Given the description of an element on the screen output the (x, y) to click on. 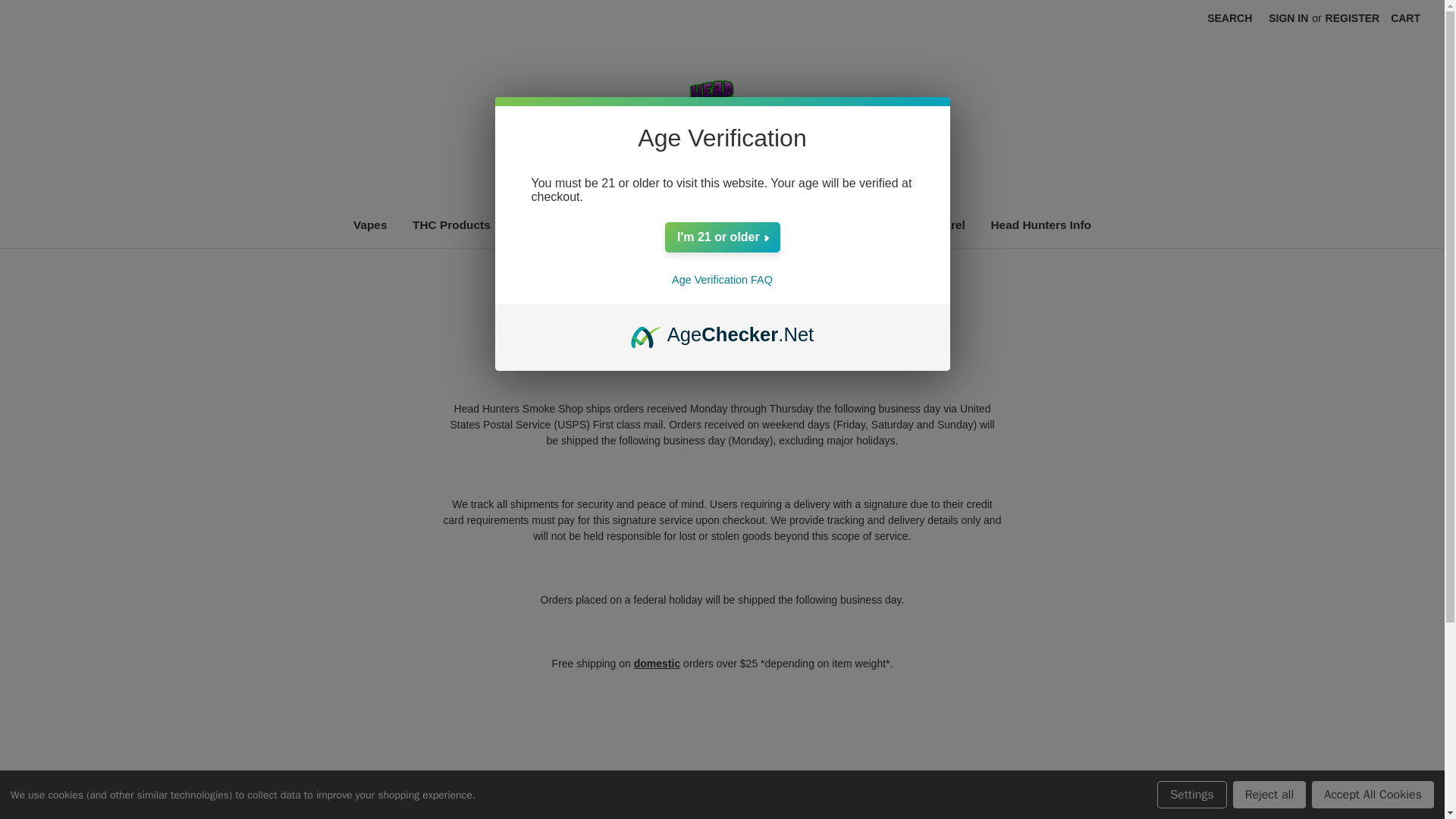
Vapes (369, 224)
SEARCH (1229, 18)
SIGN IN (1288, 18)
Head Hunters Smoke Shop (722, 117)
REGISTER (1353, 18)
CART (1404, 18)
THC Products (450, 224)
Pipes (530, 224)
